Given the description of an element on the screen output the (x, y) to click on. 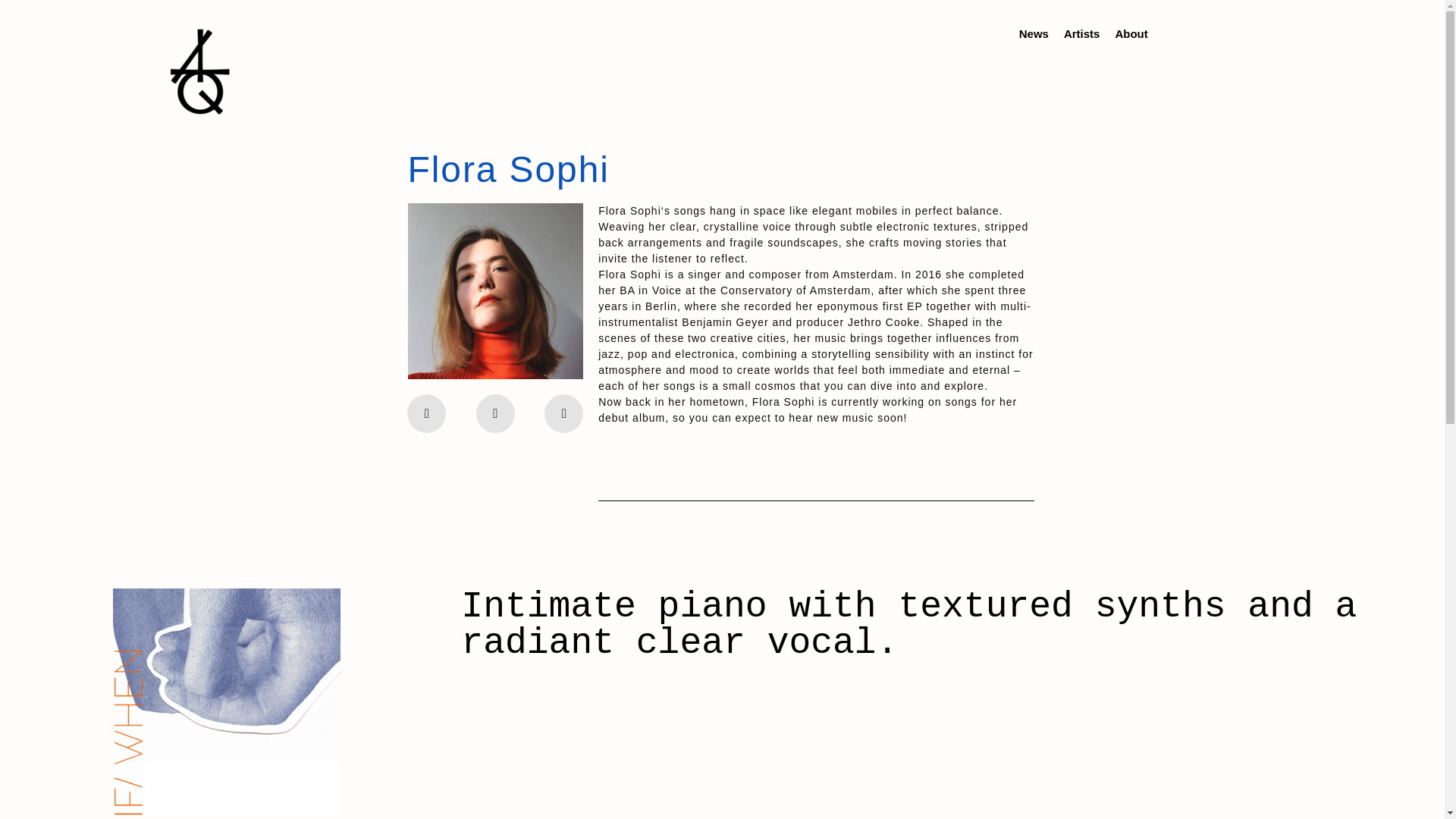
News (1034, 33)
Artists (1082, 33)
About (1130, 33)
